Given the description of an element on the screen output the (x, y) to click on. 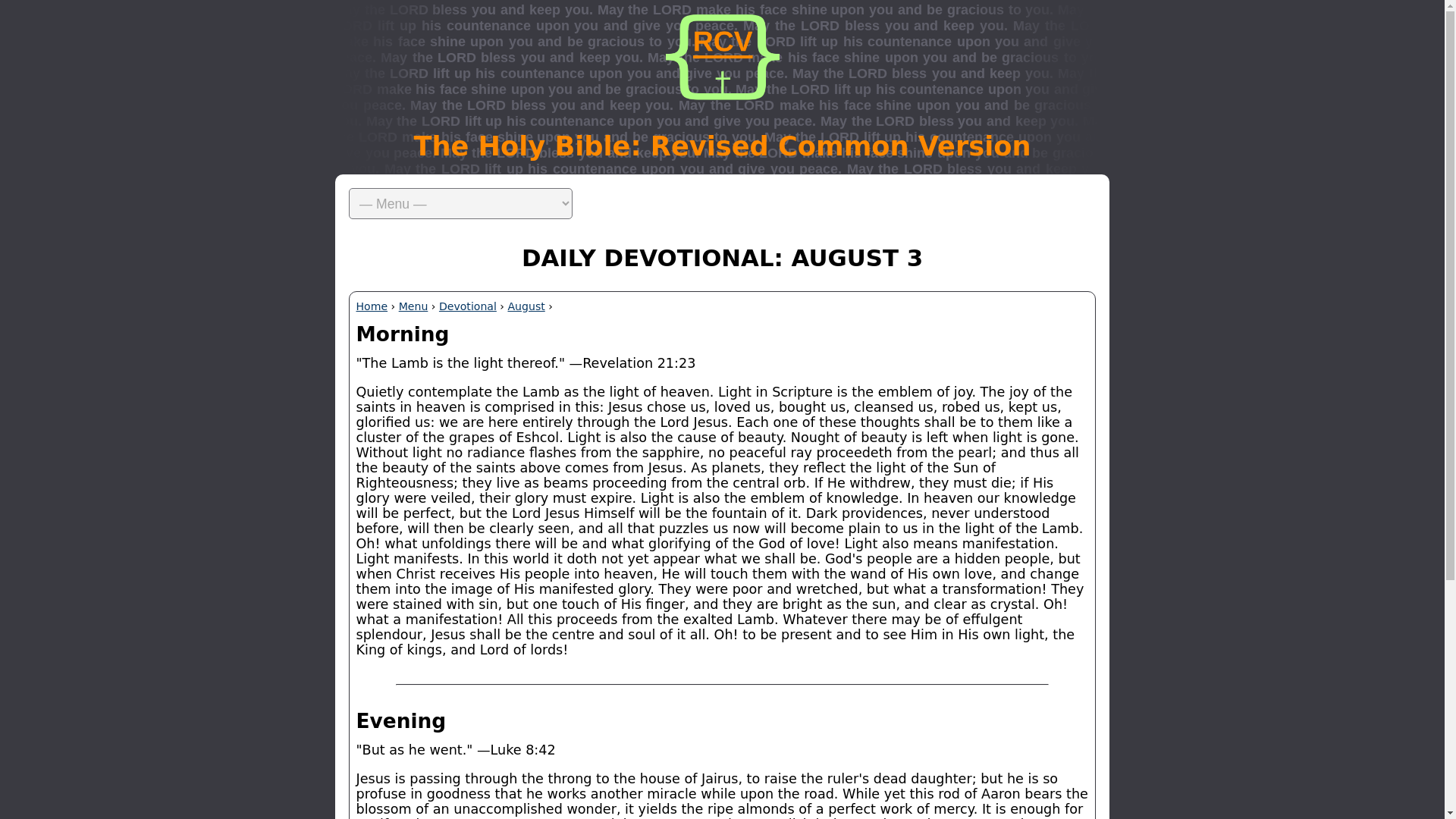
Menu (413, 306)
Devotional (467, 306)
August (525, 306)
Home (372, 306)
Choose a menu option to navigate the RCV website. (722, 204)
